Given the description of an element on the screen output the (x, y) to click on. 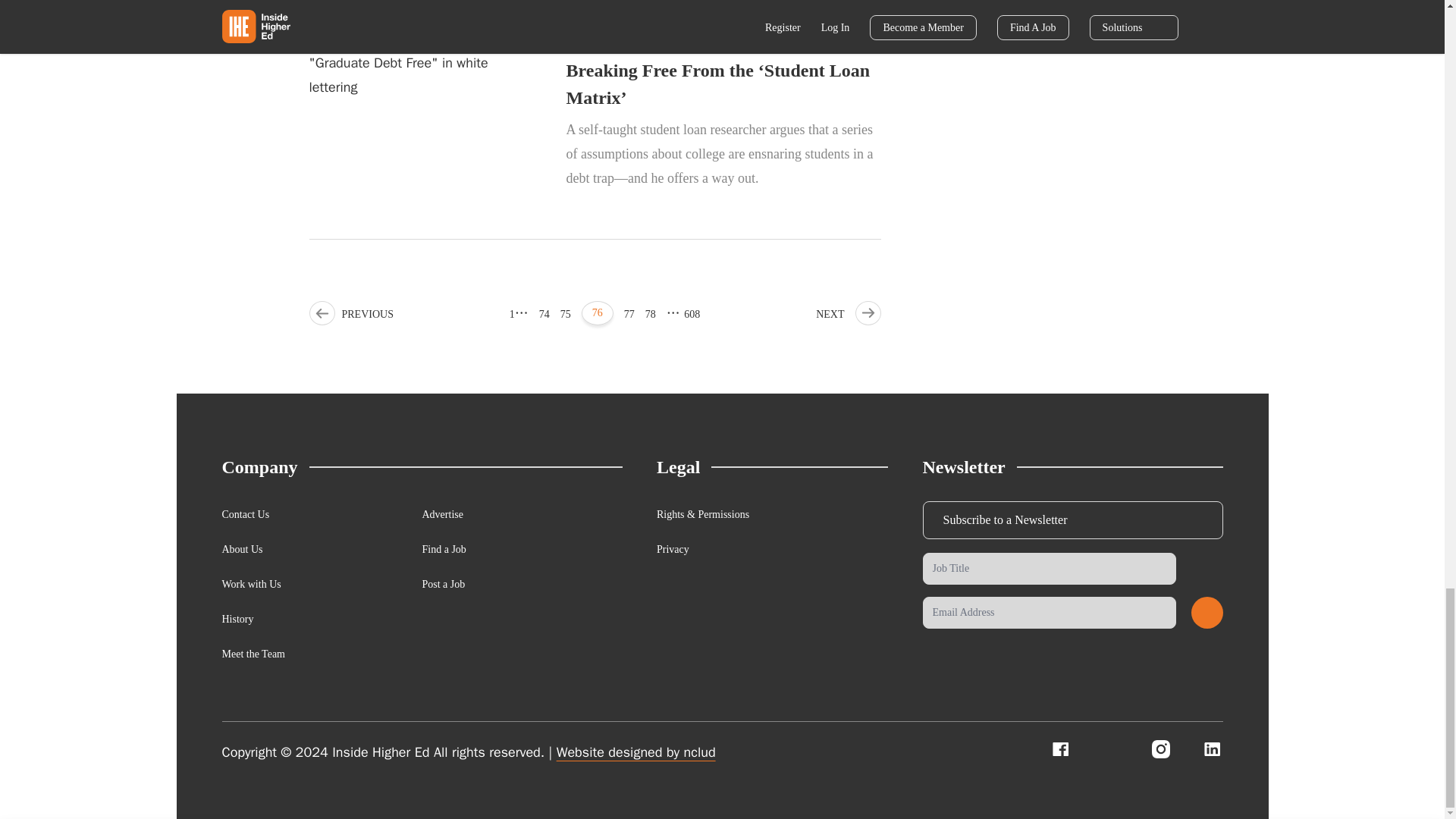
Go to page 74 (544, 314)
Go to first page (512, 314)
Submit (1207, 612)
Go to previous page (350, 314)
